Given the description of an element on the screen output the (x, y) to click on. 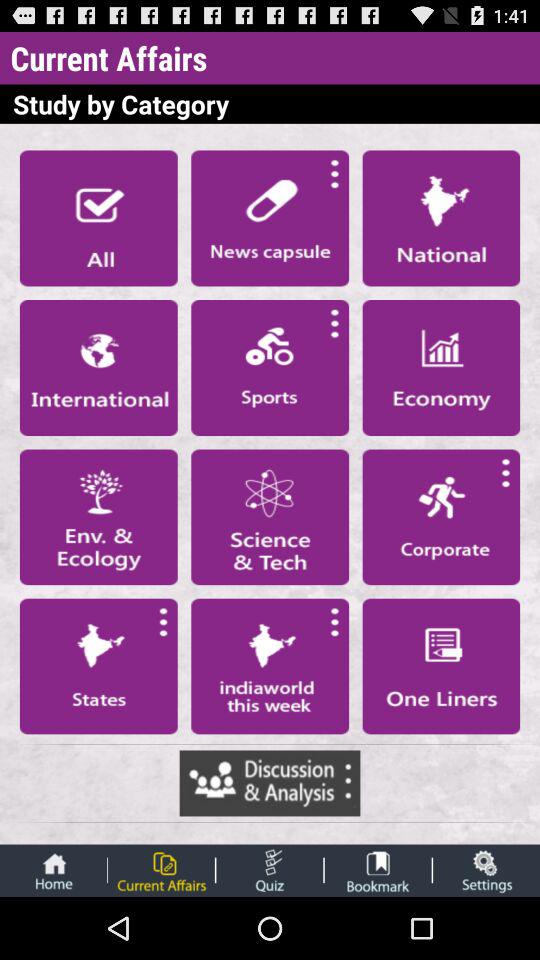
open category (270, 666)
